Given the description of an element on the screen output the (x, y) to click on. 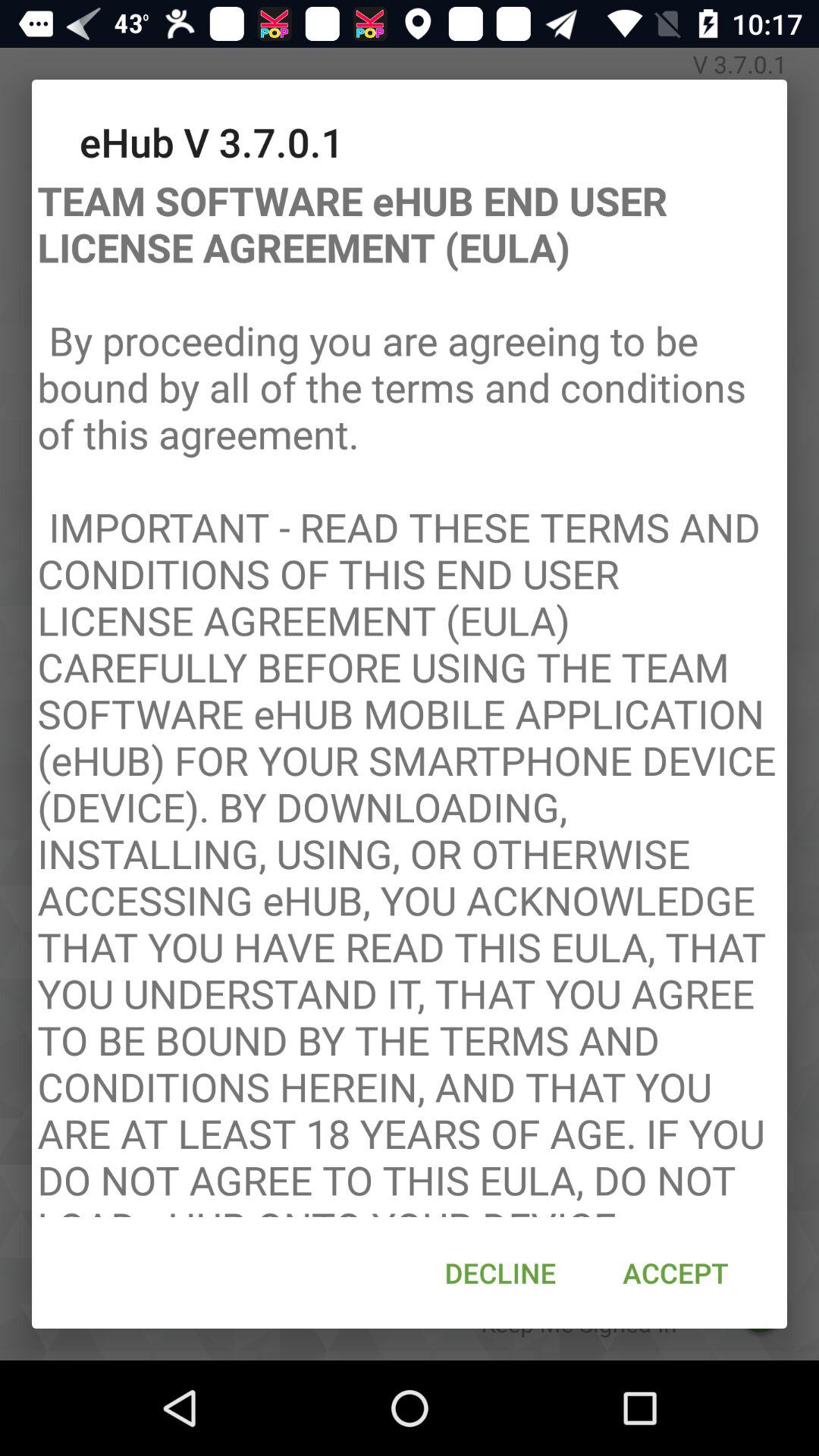
press accept (675, 1272)
